Given the description of an element on the screen output the (x, y) to click on. 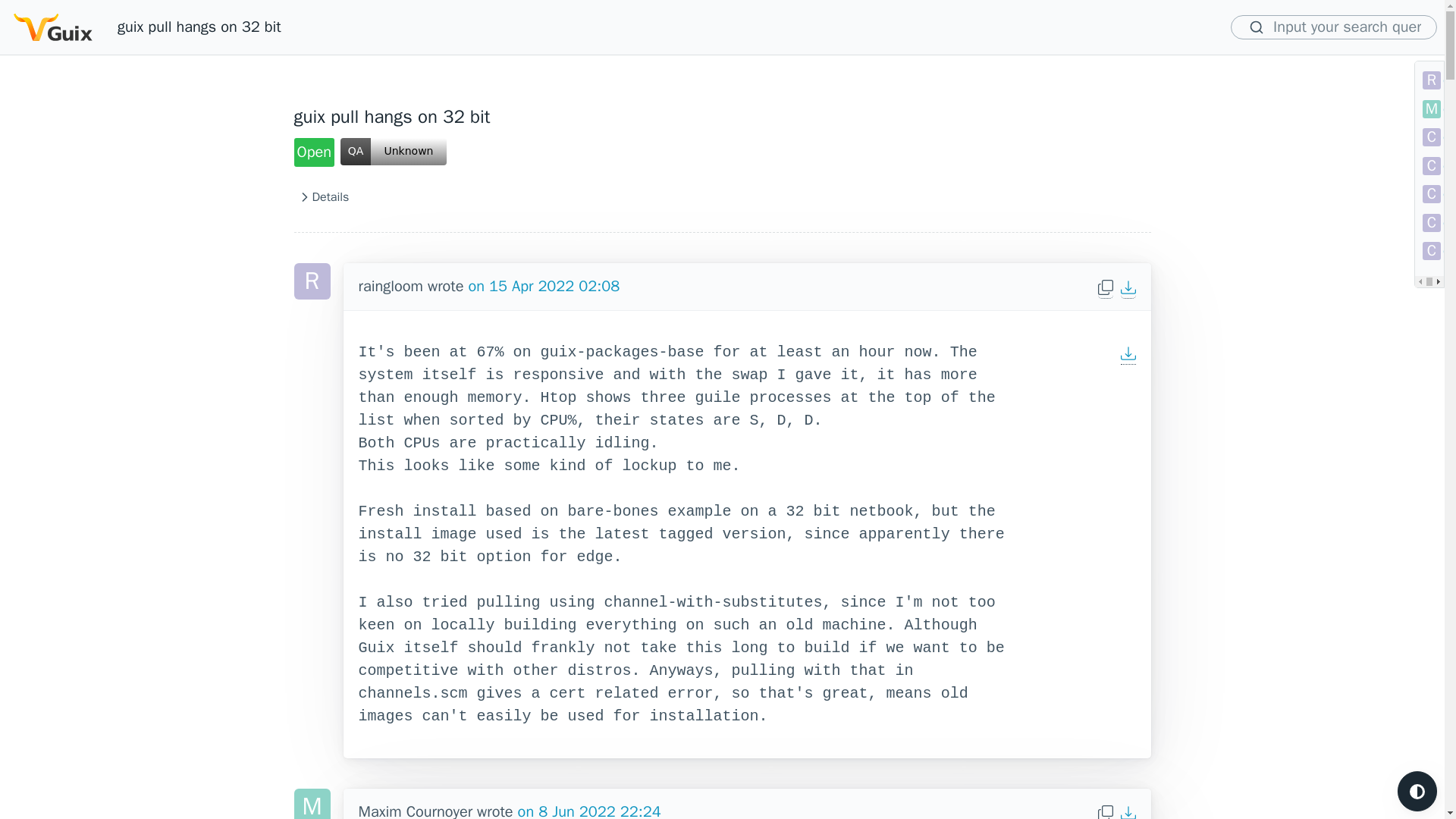
on 8 Jun 2022 22:24 (589, 810)
on 15 Apr 2022 02:08 (543, 285)
Wed Jun 08 16:24:27-0400 2022 (589, 810)
